Given the description of an element on the screen output the (x, y) to click on. 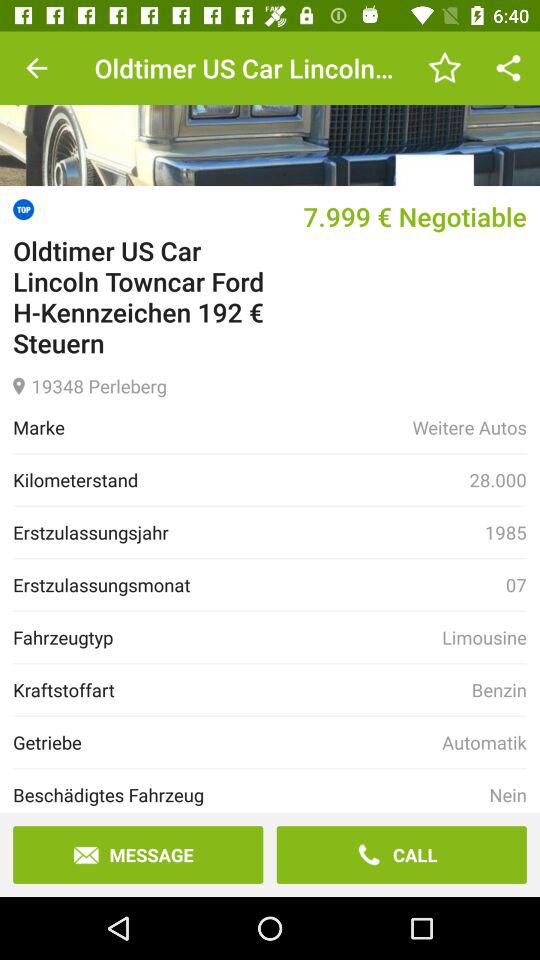
go back to previous page (36, 68)
